Given the description of an element on the screen output the (x, y) to click on. 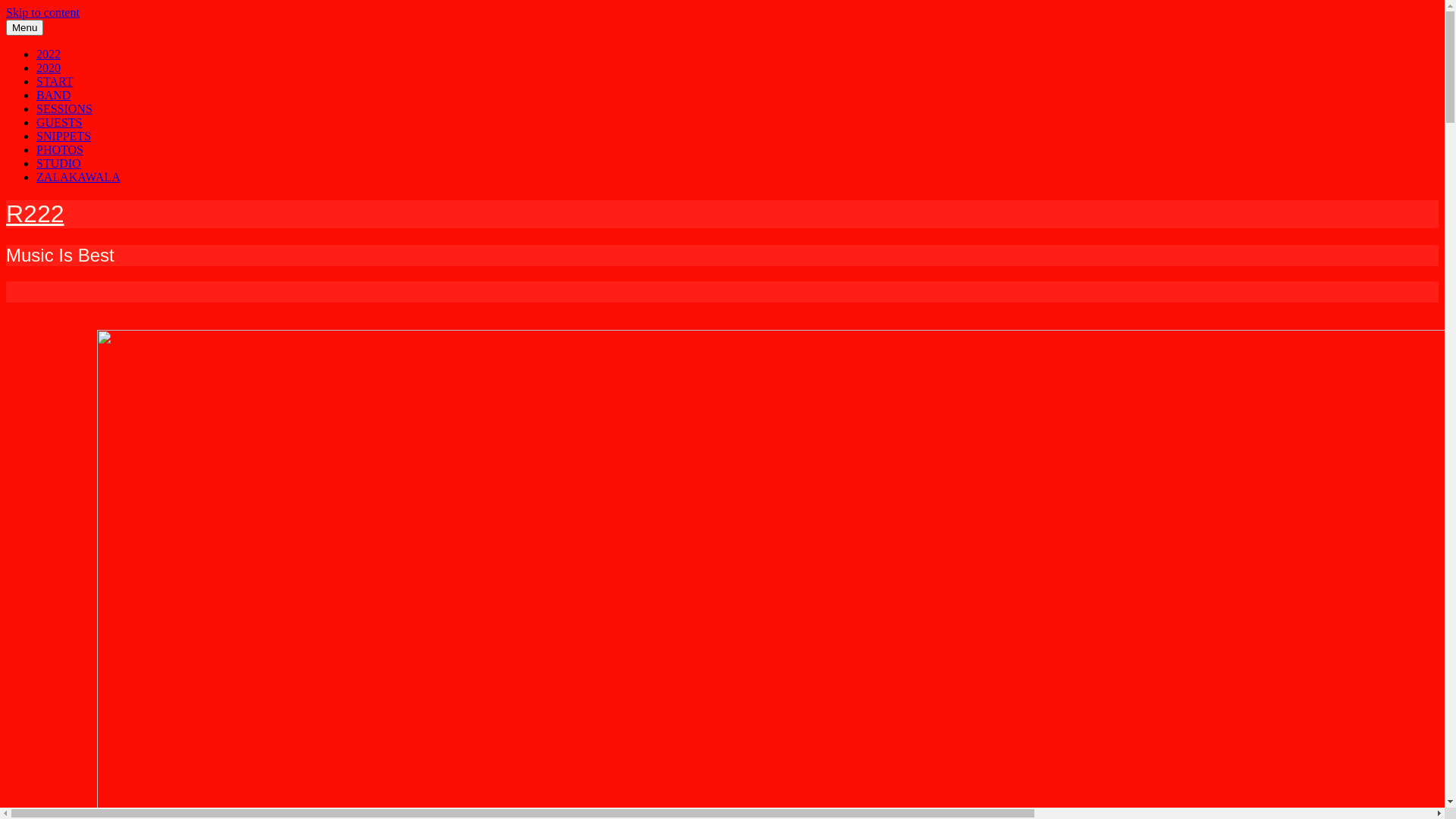
STUDIO Element type: text (58, 162)
Skip to content Element type: text (42, 12)
GUESTS Element type: text (58, 122)
2022 Element type: text (48, 53)
2020 Element type: text (48, 67)
SNIPPETS Element type: text (63, 135)
SESSIONS Element type: text (64, 108)
R222 Element type: text (35, 213)
Menu Element type: text (24, 27)
START Element type: text (54, 81)
PHOTOS Element type: text (59, 149)
ZALAKAWALA Element type: text (78, 176)
BAND Element type: text (53, 94)
